Given the description of an element on the screen output the (x, y) to click on. 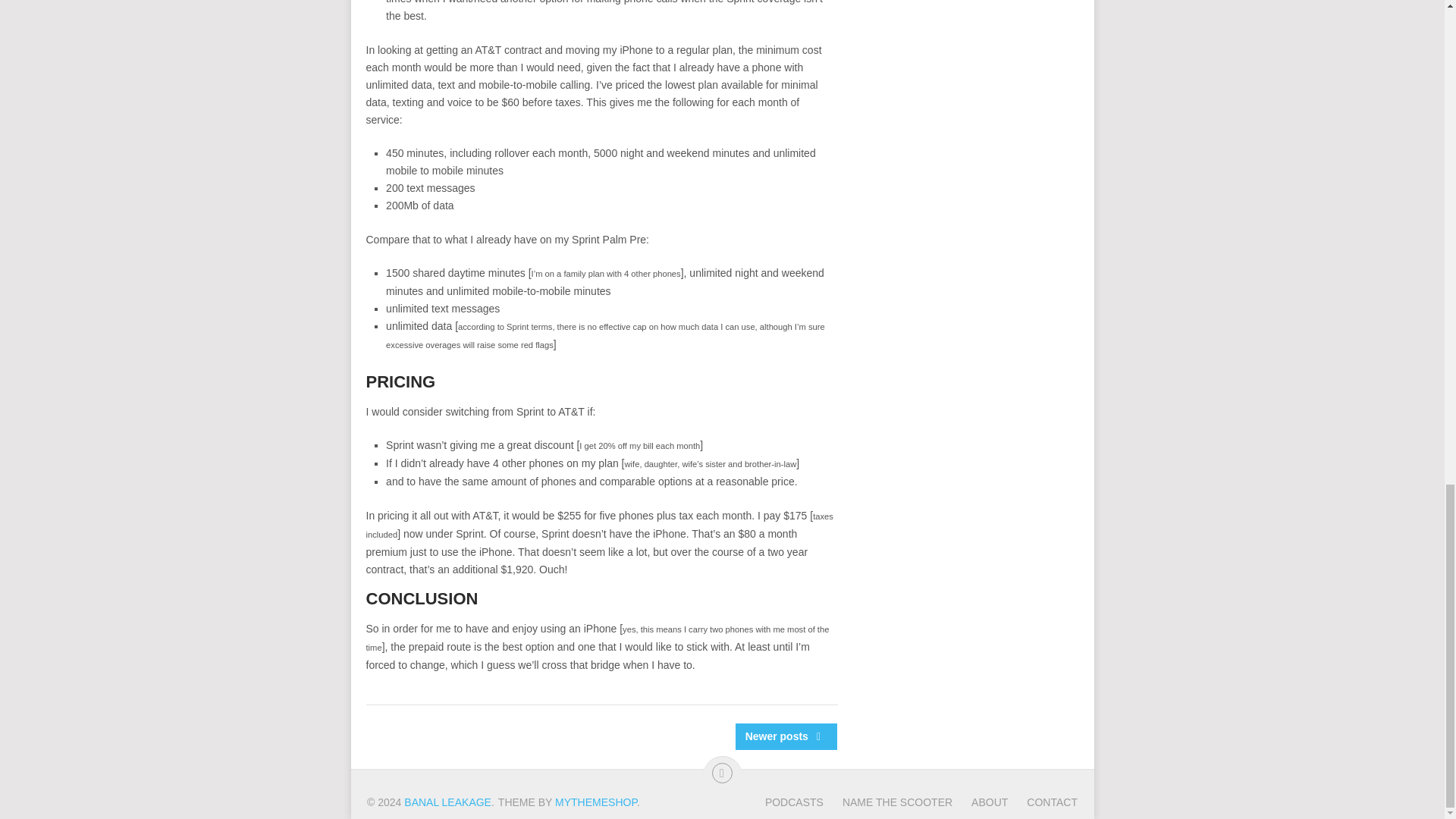
ABOUT (979, 802)
MYTHEMESHOP (595, 802)
Random Bits of Whatever (448, 802)
PODCASTS (794, 802)
NAME THE SCOOTER (888, 802)
BANAL LEAKAGE (448, 802)
CONTACT (1042, 802)
Newer posts (786, 736)
